Given the description of an element on the screen output the (x, y) to click on. 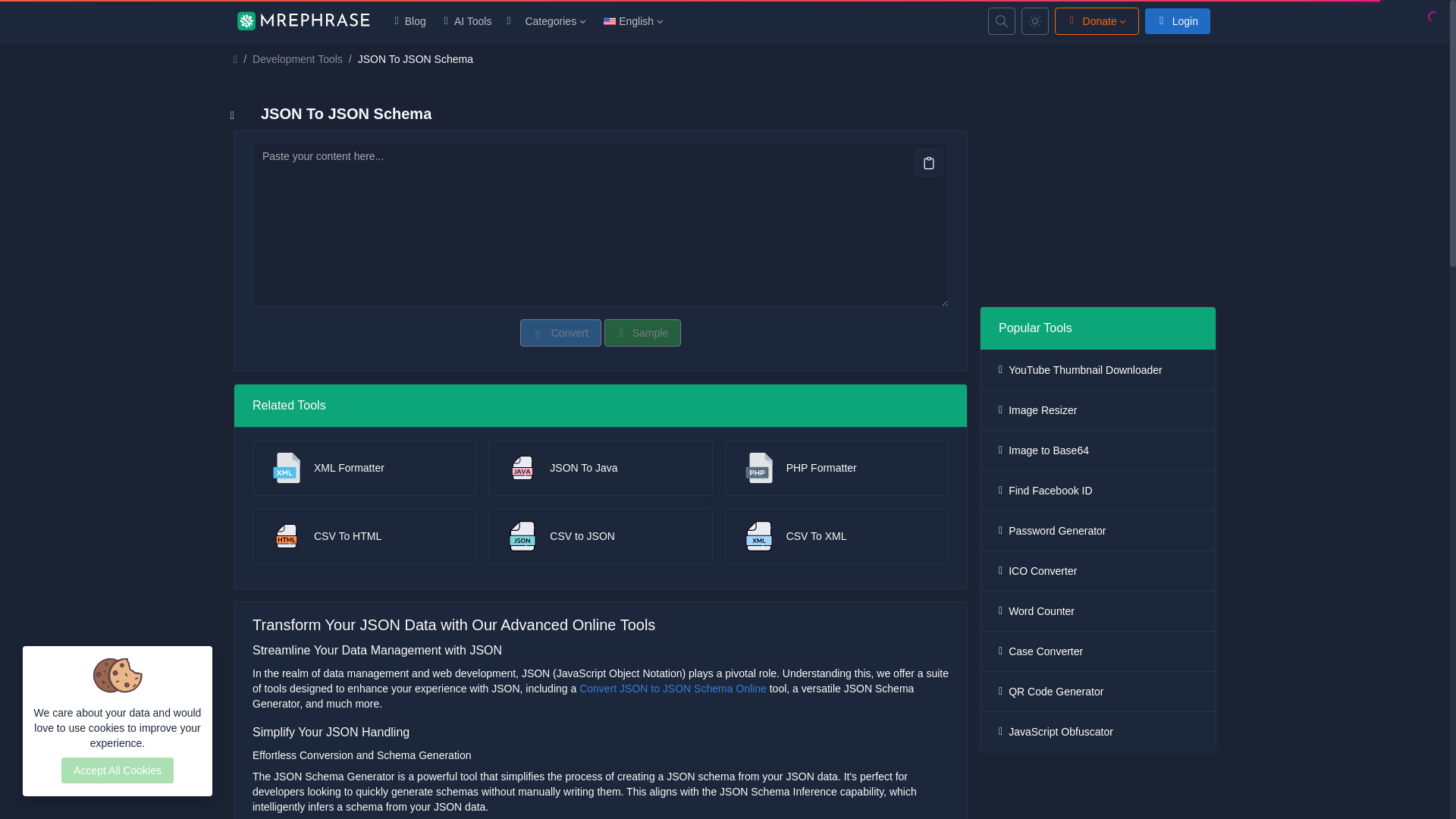
XML Formatter (363, 467)
Donate (1096, 21)
Login (1176, 21)
Convert (560, 332)
AI Tools (467, 21)
Blog (410, 21)
Advertisement (1097, 199)
Sample (642, 332)
Development Tools (296, 59)
English (632, 21)
